Given the description of an element on the screen output the (x, y) to click on. 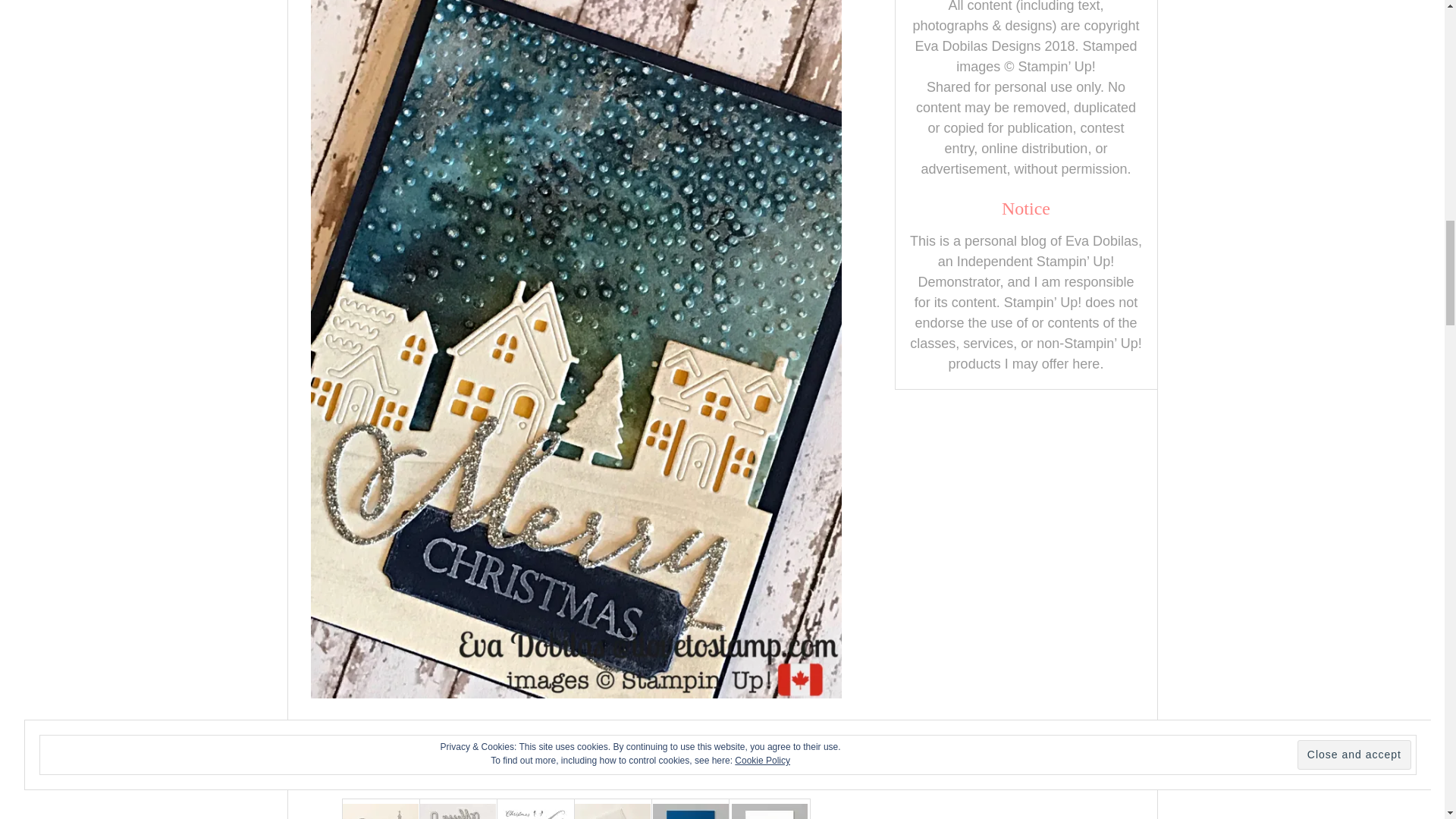
Merry Christmas Thinlits Dies (458, 811)
Hometown Greetings Edgelits Dies (380, 811)
Merry Christmas To All Photopolymer Stamp Set (535, 811)
